Given the description of an element on the screen output the (x, y) to click on. 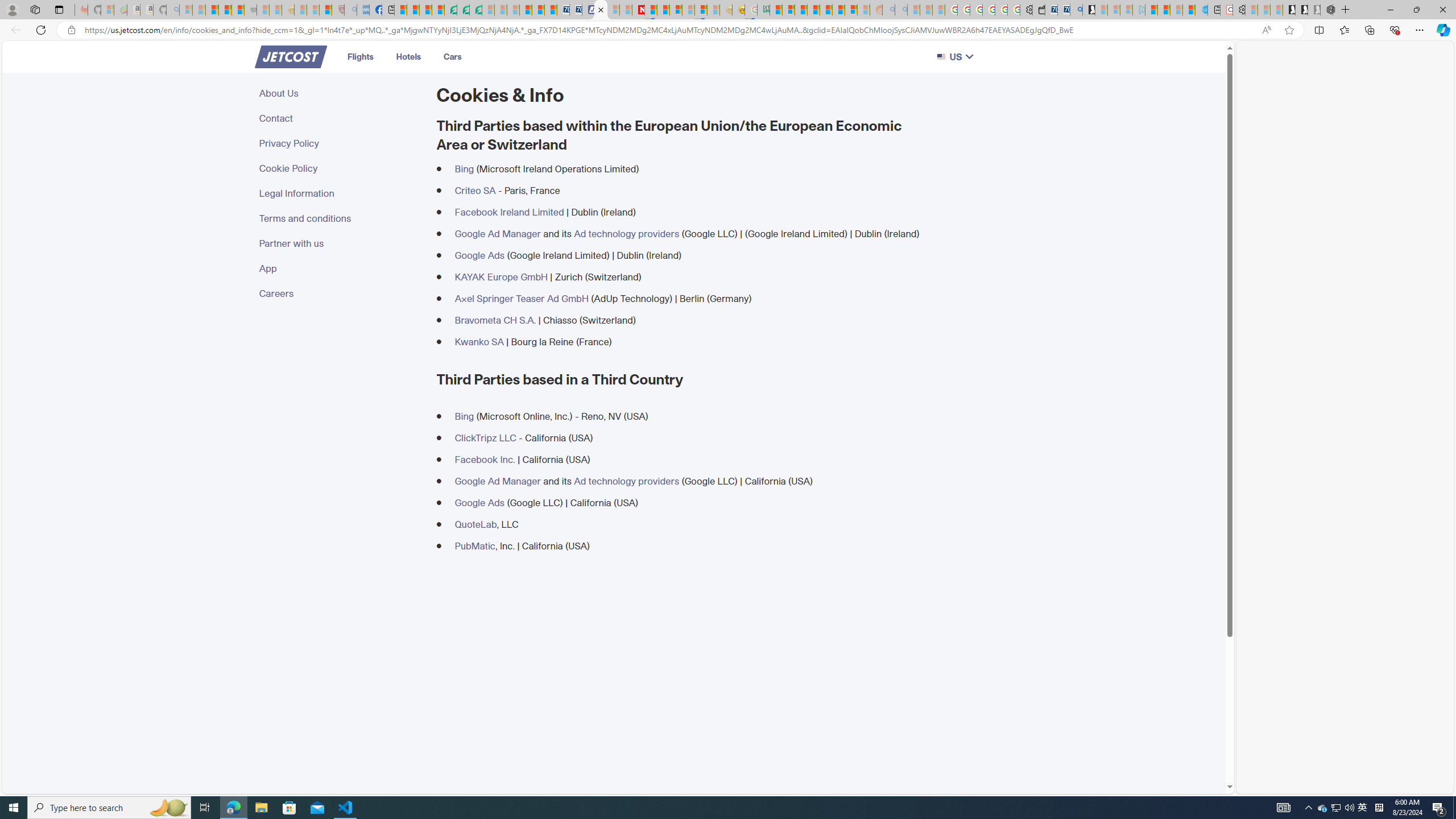
Careers (341, 292)
Latest Politics News & Archive | Newsweek.com (638, 9)
